Given the description of an element on the screen output the (x, y) to click on. 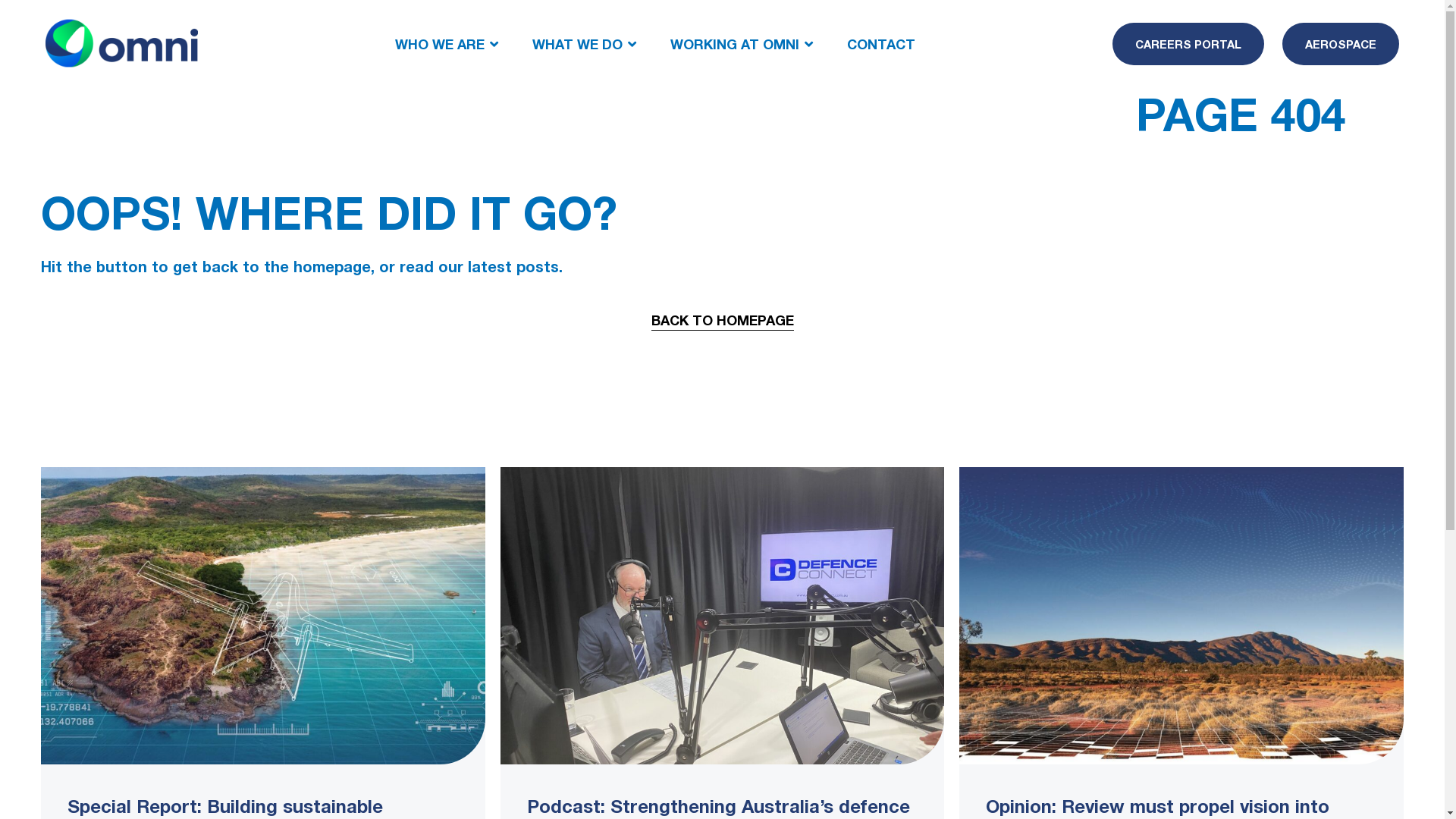
CAREERS PORTAL Element type: text (1188, 43)
BACK TO HOMEPAGE Element type: text (721, 320)
WHO WE ARE Element type: text (439, 42)
WHAT WE DO Element type: text (577, 42)
WORKING AT OMNI Element type: text (734, 42)
CONTACT Element type: text (881, 42)
AEROSPACE Element type: text (1340, 43)
